Given the description of an element on the screen output the (x, y) to click on. 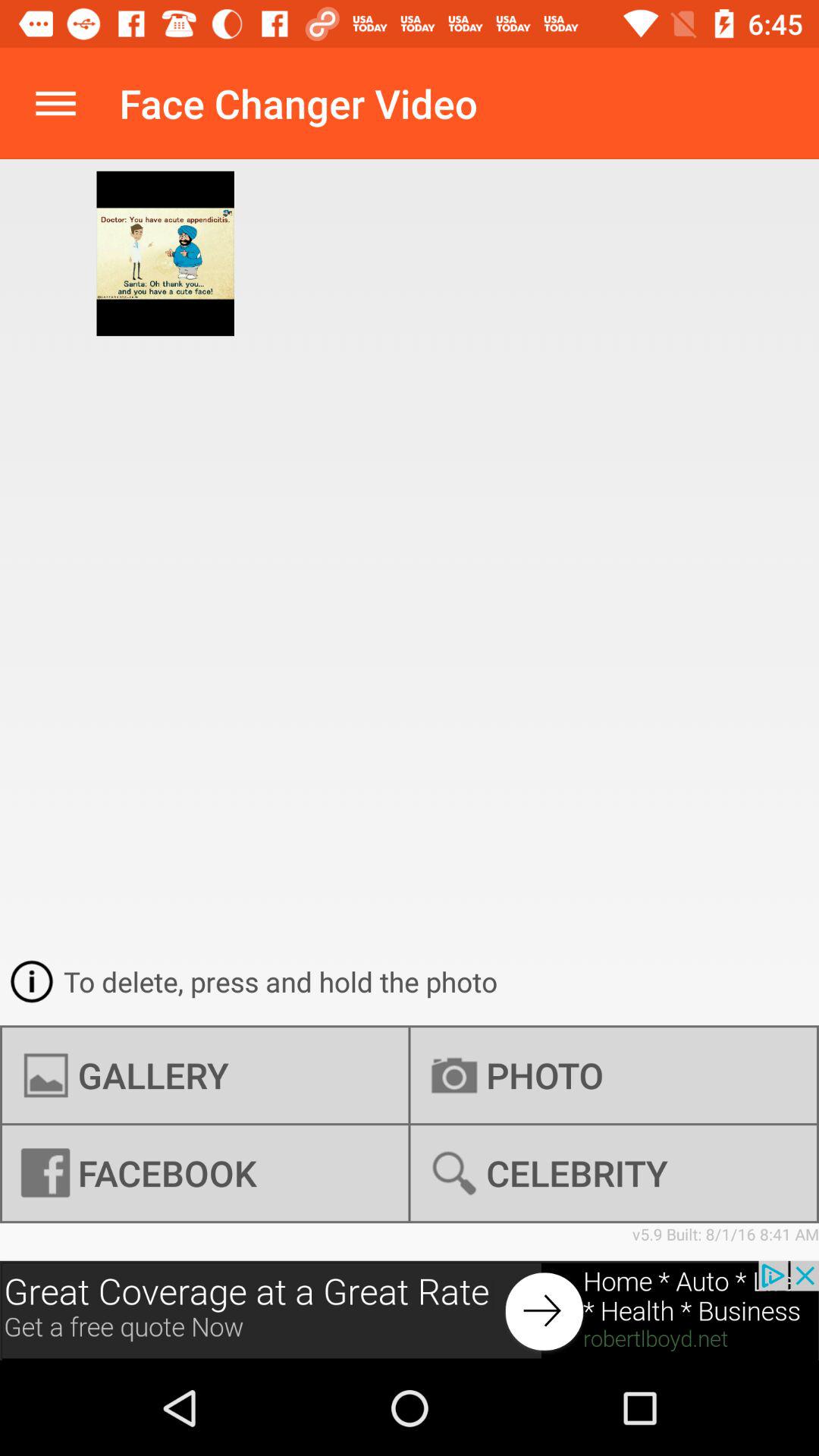
advertisement (409, 1310)
